Given the description of an element on the screen output the (x, y) to click on. 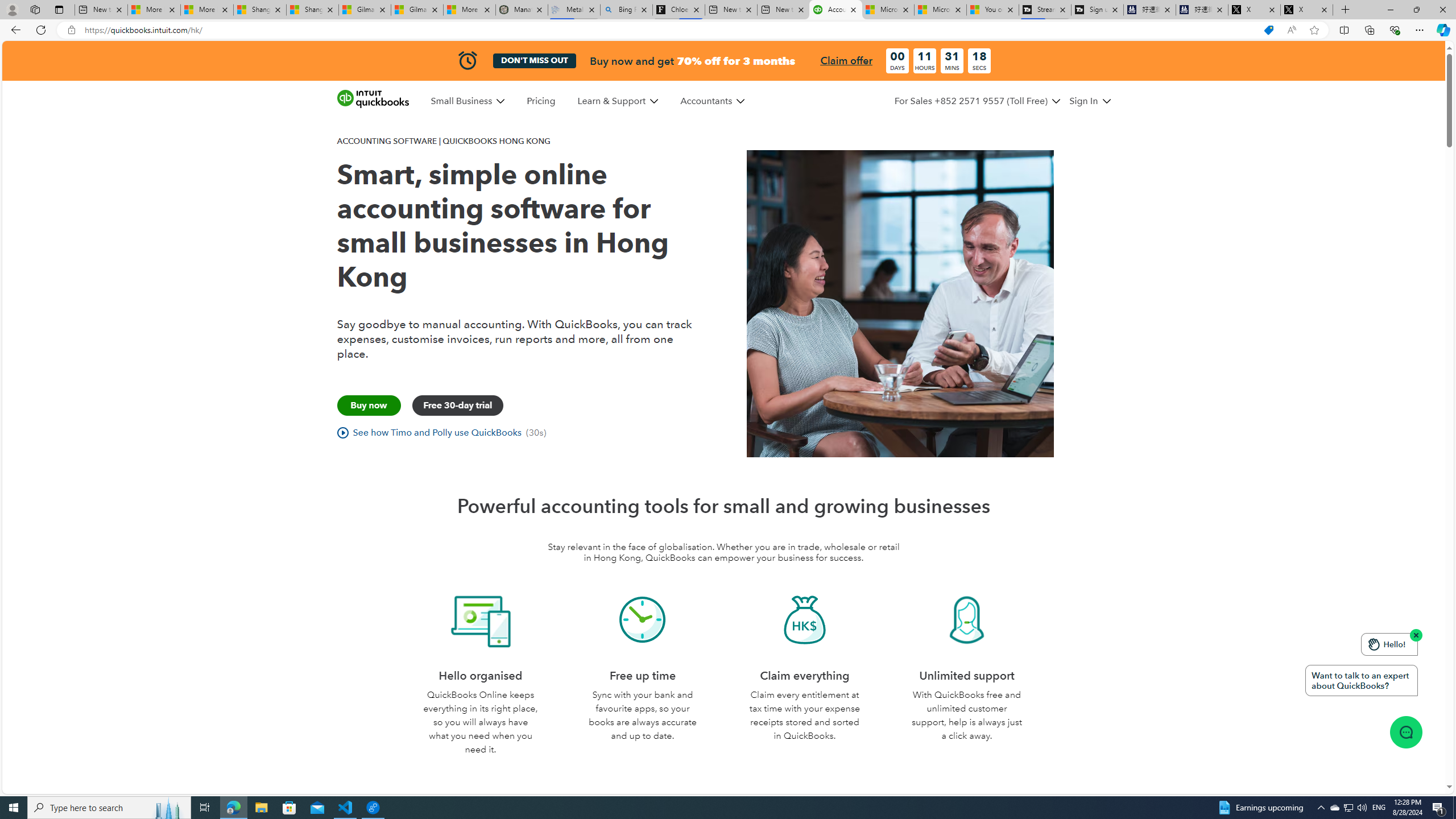
Pricing (541, 101)
Sign In (1082, 101)
App bar (728, 29)
Shopping in Microsoft Edge (1268, 29)
Browser essentials (1394, 29)
Shanghai, China weather forecast | Microsoft Weather (312, 9)
Restore (1416, 9)
Buy now (368, 405)
Add this page to favorites (Ctrl+D) (1314, 29)
X (1306, 9)
Sign In (1089, 101)
View site information (70, 29)
